Given the description of an element on the screen output the (x, y) to click on. 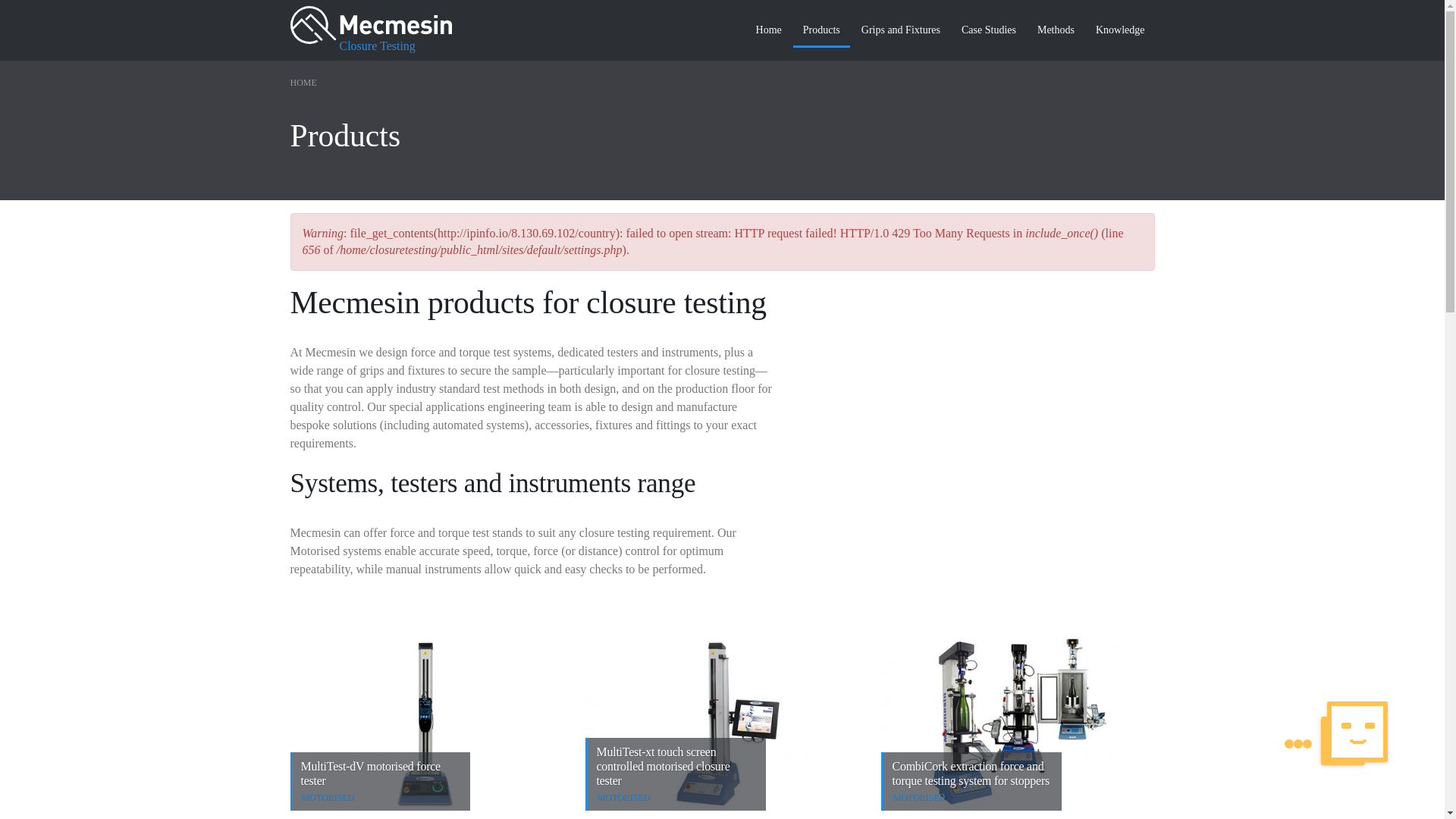
Case Studies (989, 30)
Home (370, 23)
Home (768, 30)
Grips and Fixtures (900, 30)
Methods (1055, 30)
Knowledge (1120, 30)
Products (821, 31)
